Given the description of an element on the screen output the (x, y) to click on. 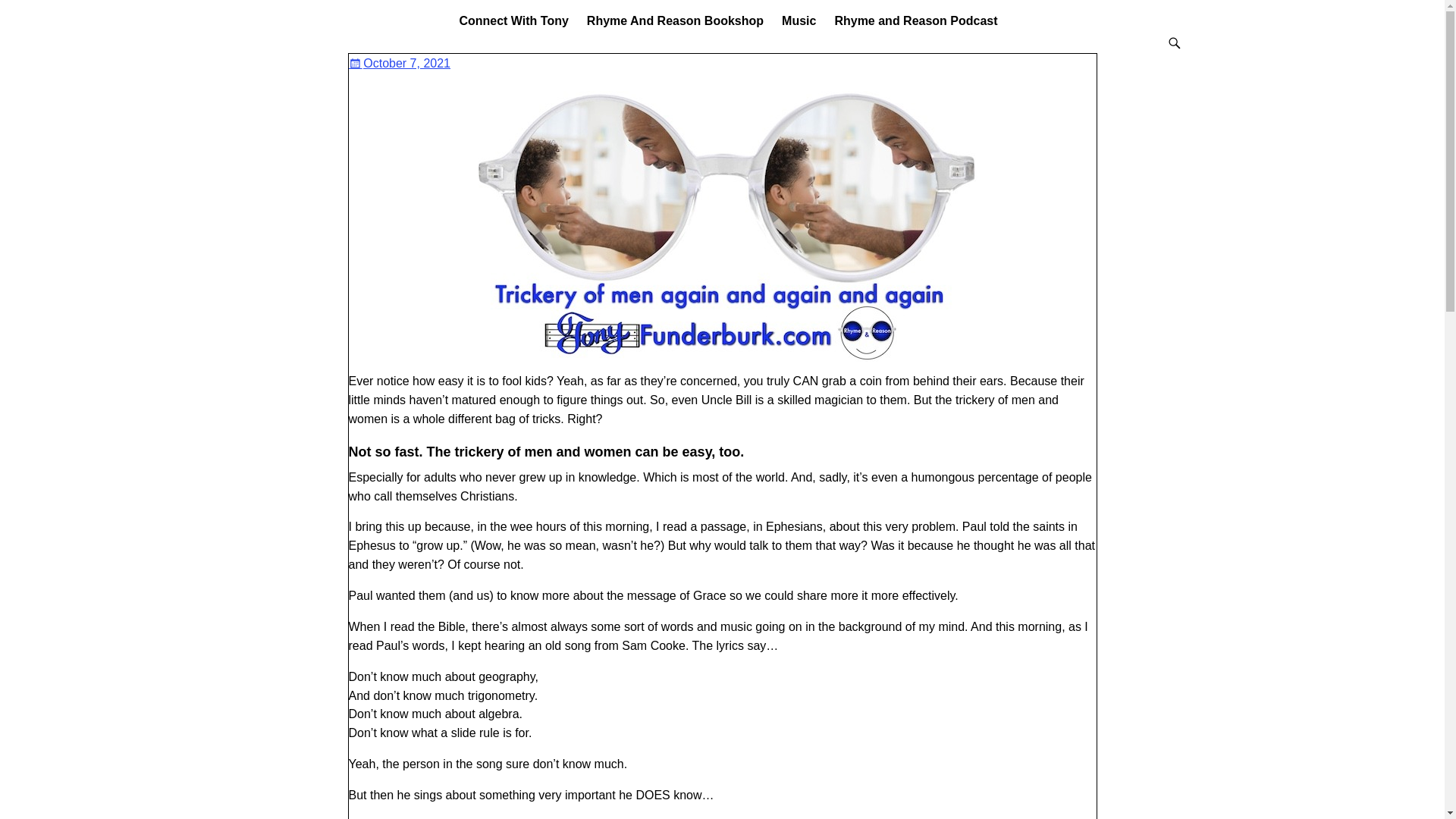
October 7, 2021 (400, 62)
Rhyme And Reason Bookshop (675, 20)
Rhyme and Reason Podcast (915, 20)
Connect With Tony (512, 20)
Music (799, 20)
4:39 am (400, 62)
